Given the description of an element on the screen output the (x, y) to click on. 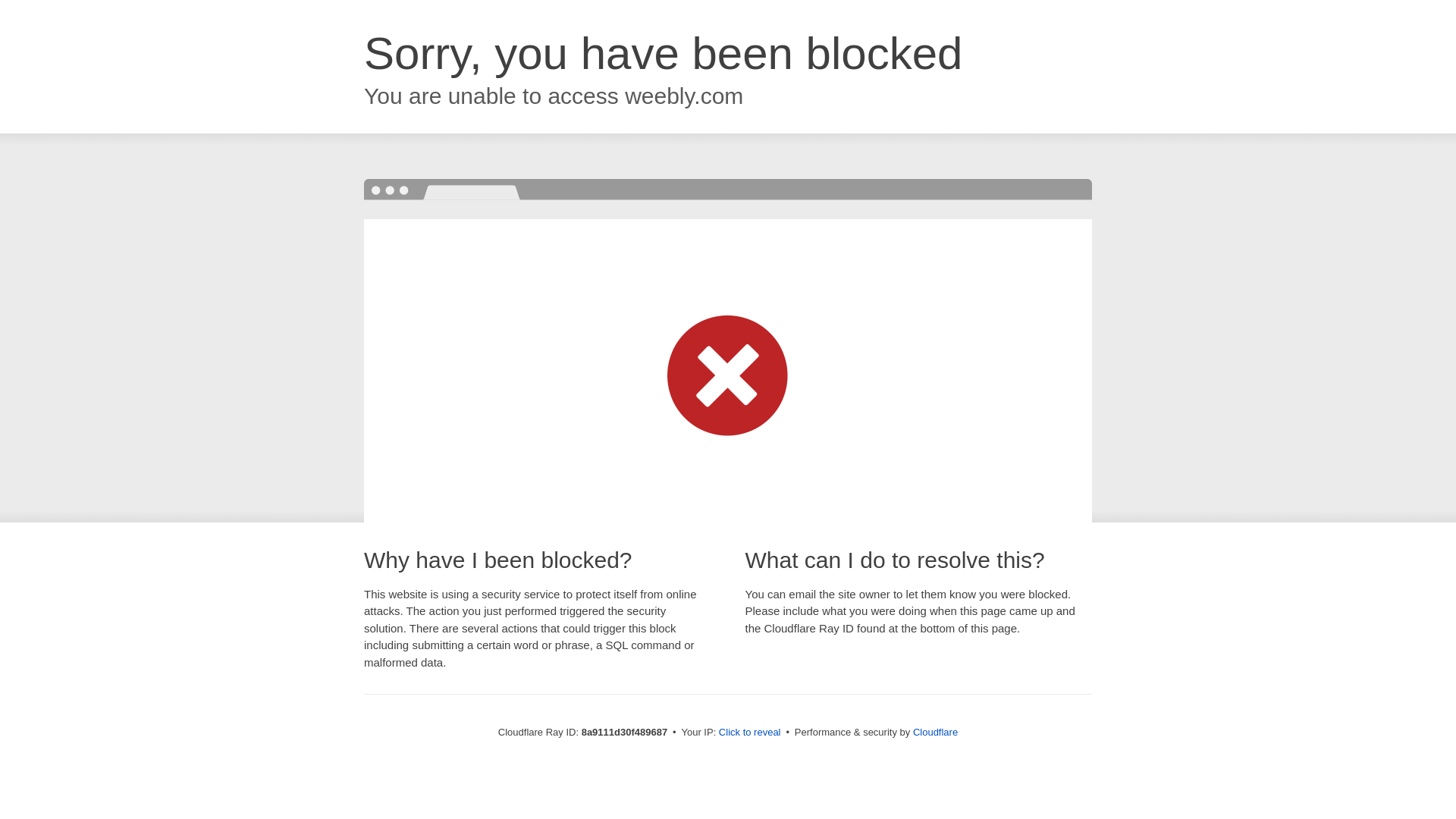
Click to reveal (749, 732)
Cloudflare (935, 731)
